Given the description of an element on the screen output the (x, y) to click on. 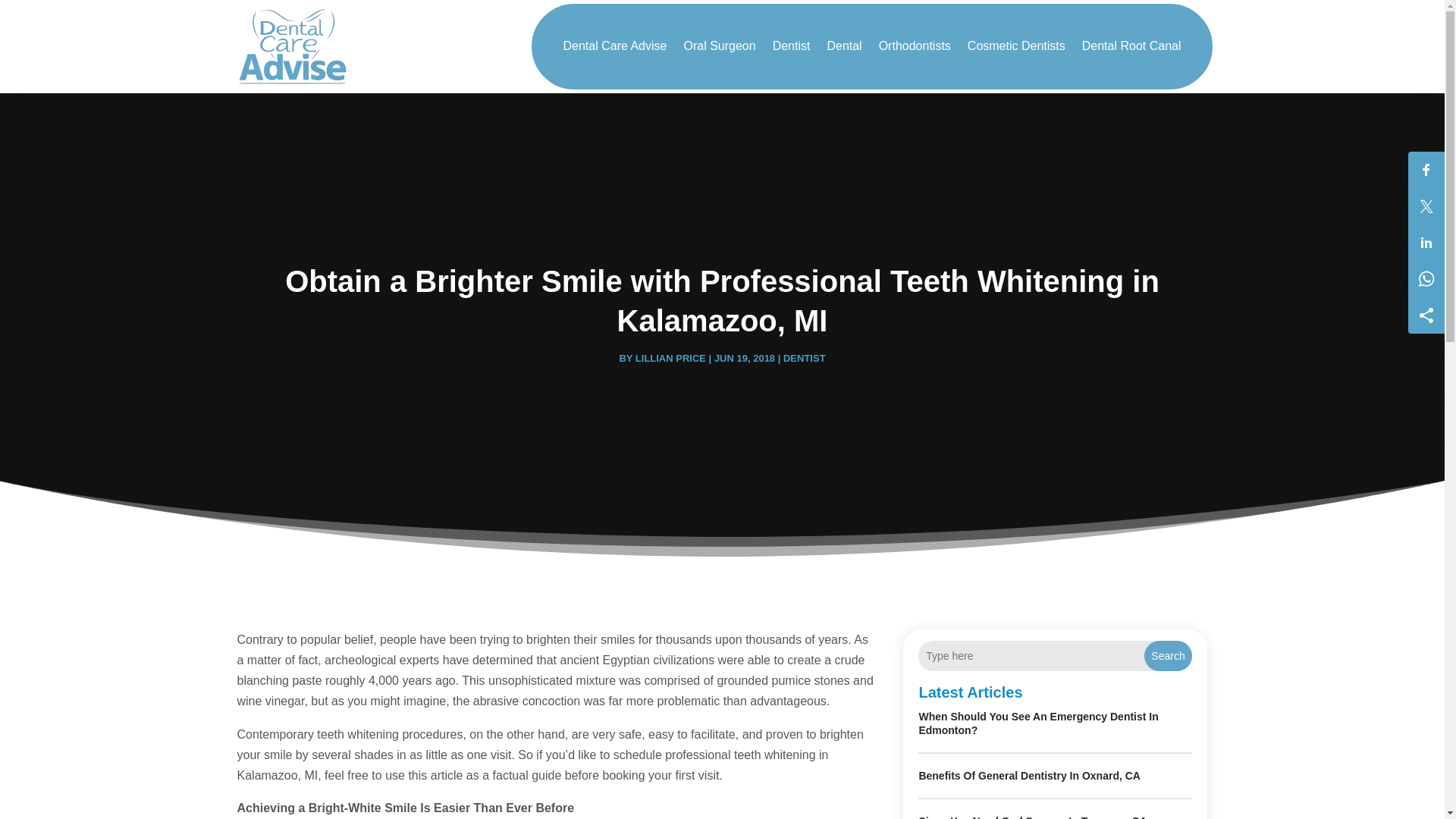
Dental Root Canal (1130, 46)
Dental Care Advise (614, 46)
Cosmetic Dentists (1016, 46)
Search (1168, 655)
When Should You See An Emergency Dentist In Edmonton? (1037, 723)
Benefits Of General Dentistry In Oxnard, CA (1029, 775)
Signs You Need Oral Surgery In Torrance, CA (1032, 816)
Posts by Lillian price (670, 357)
LILLIAN PRICE (670, 357)
DENTIST (804, 357)
